Given the description of an element on the screen output the (x, y) to click on. 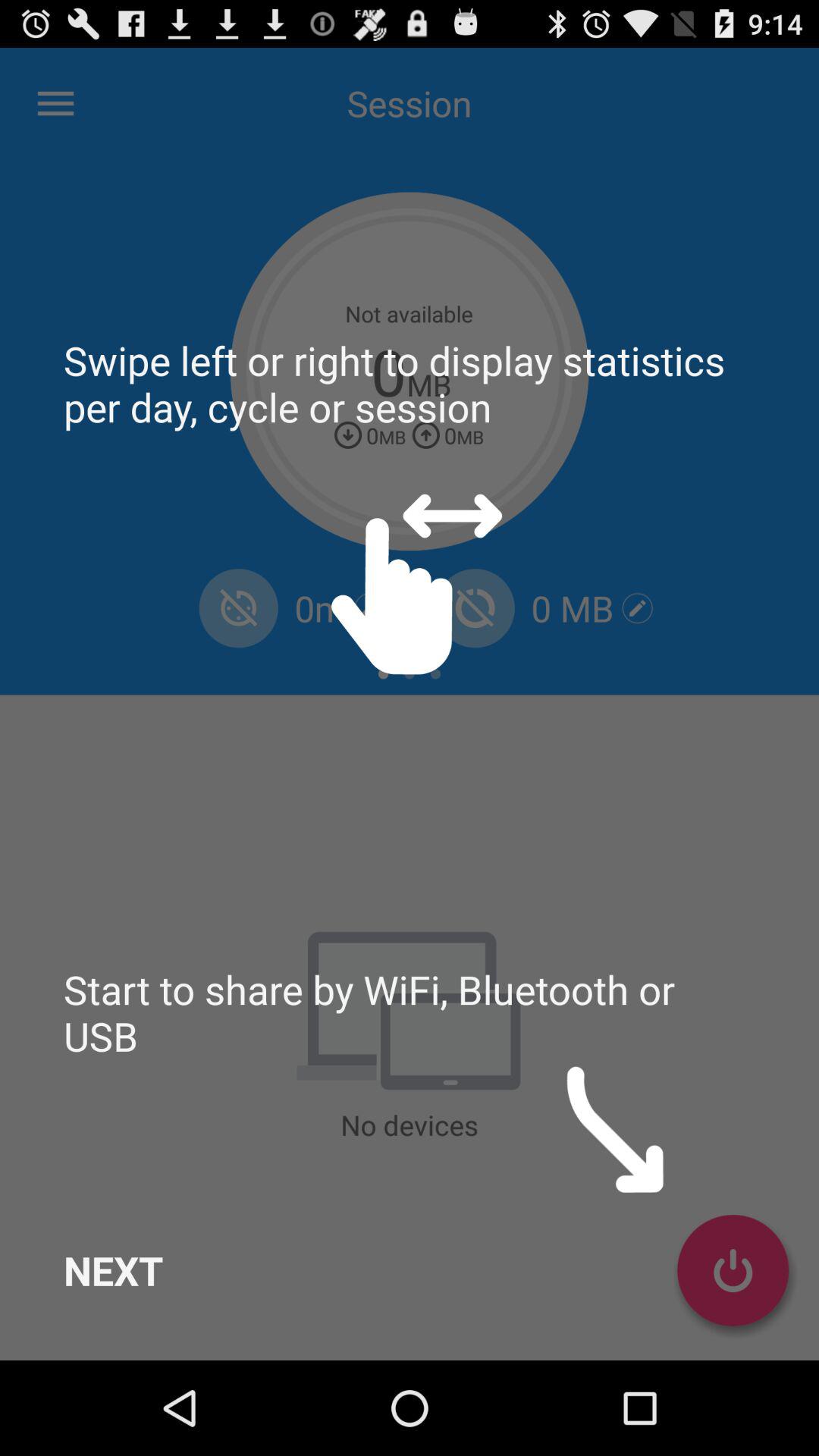
swipe until next (113, 1270)
